Given the description of an element on the screen output the (x, y) to click on. 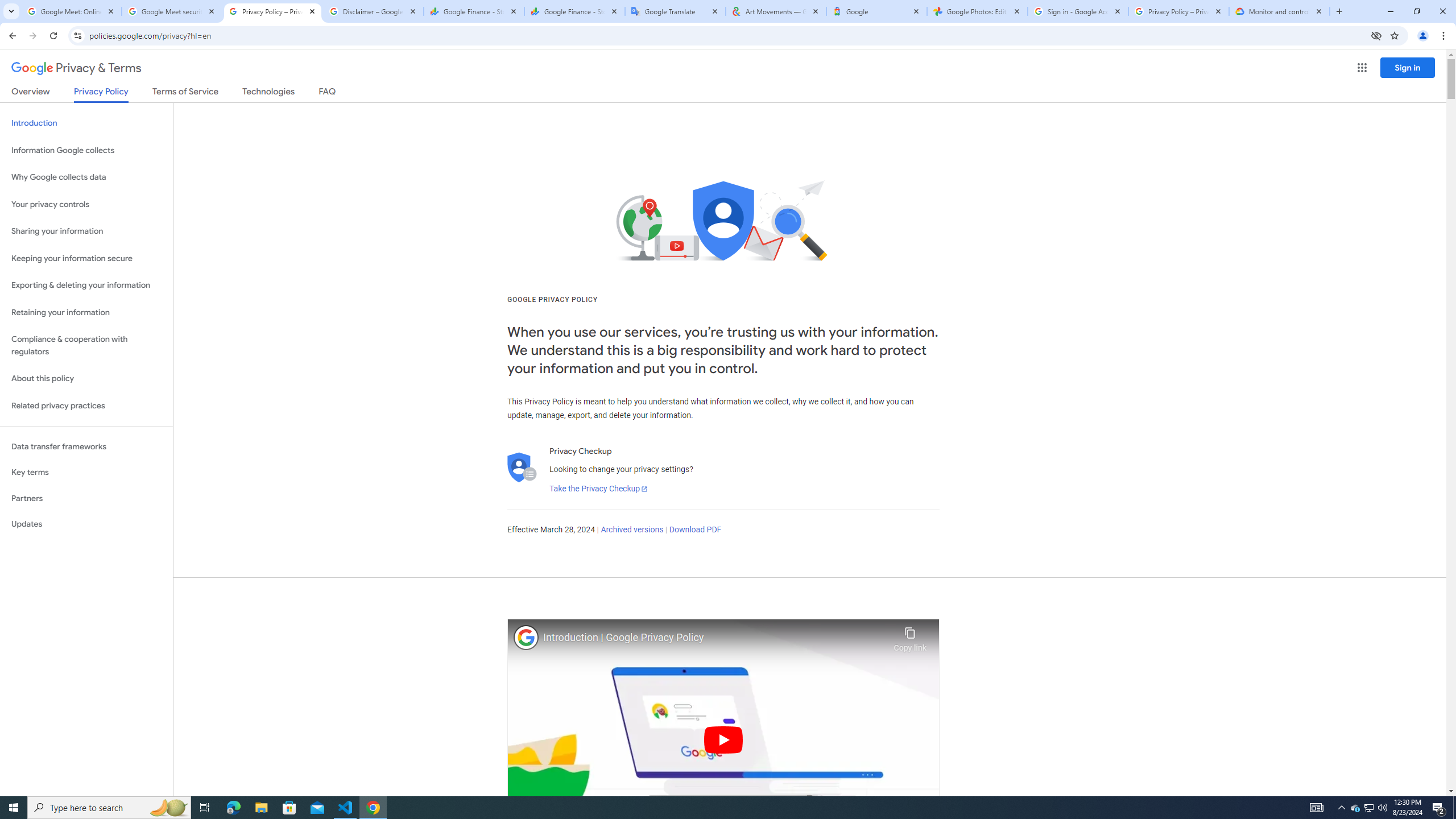
Play (723, 739)
Introduction | Google Privacy Policy (715, 637)
